Given the description of an element on the screen output the (x, y) to click on. 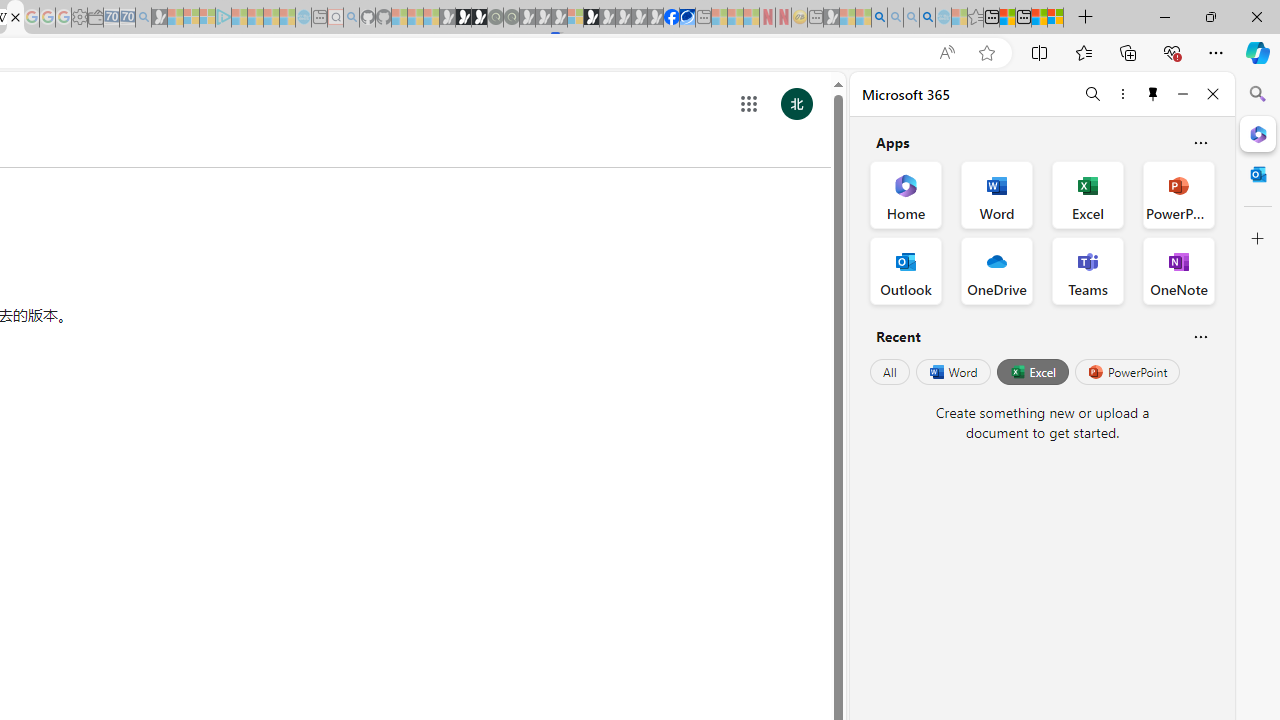
Future Focus Report 2024 - Sleeping (511, 17)
Favorites - Sleeping (975, 17)
Excel Office App (1087, 194)
Outlook Office App (906, 270)
Bing Real Estate - Home sales and rental listings - Sleeping (143, 17)
Home Office App (906, 194)
